Given the description of an element on the screen output the (x, y) to click on. 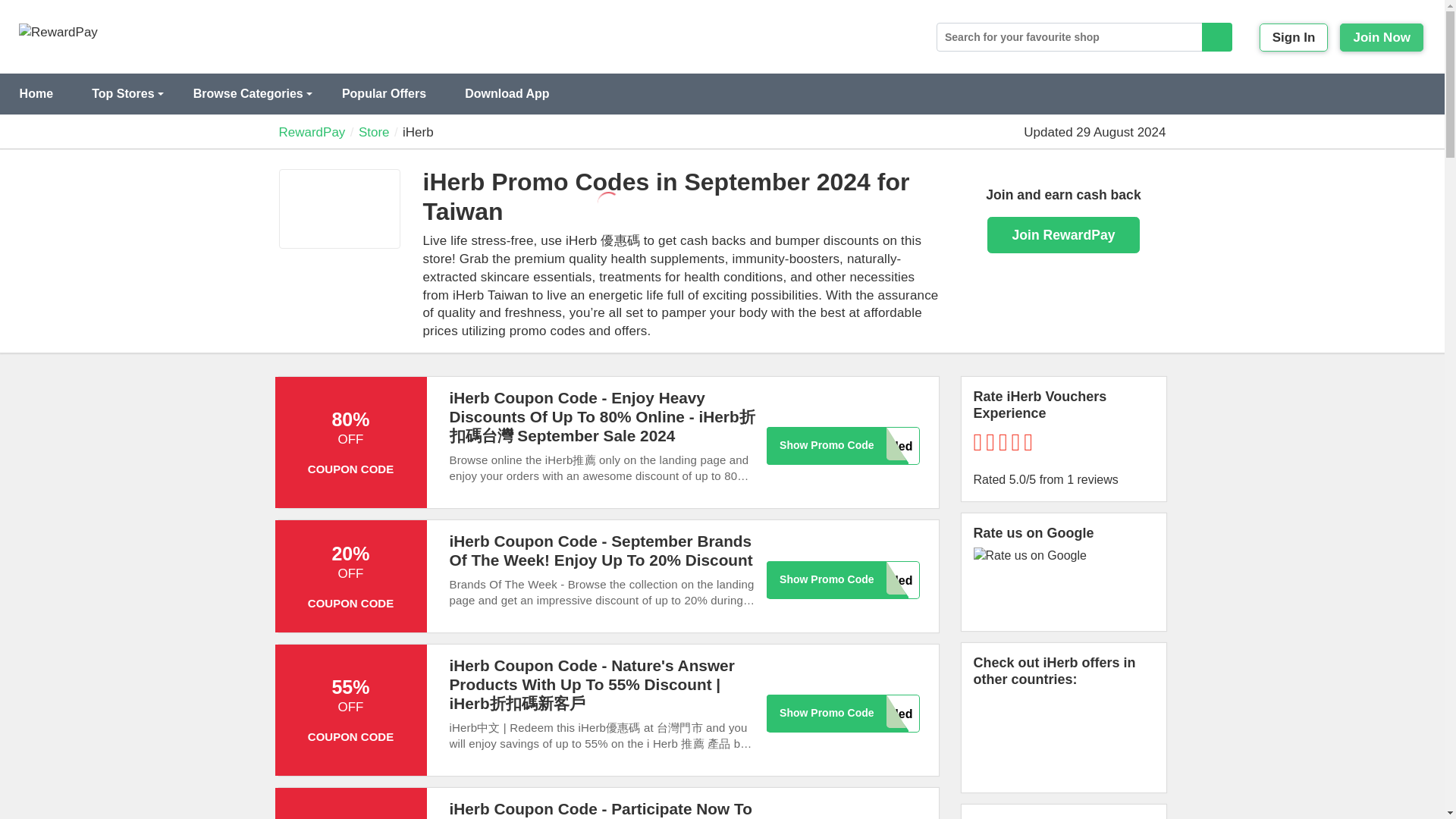
Browse Categories (247, 93)
Top Stores (123, 93)
SEARCH (1216, 36)
Home (35, 93)
Join Now (1381, 37)
Sign In (1293, 37)
